Given the description of an element on the screen output the (x, y) to click on. 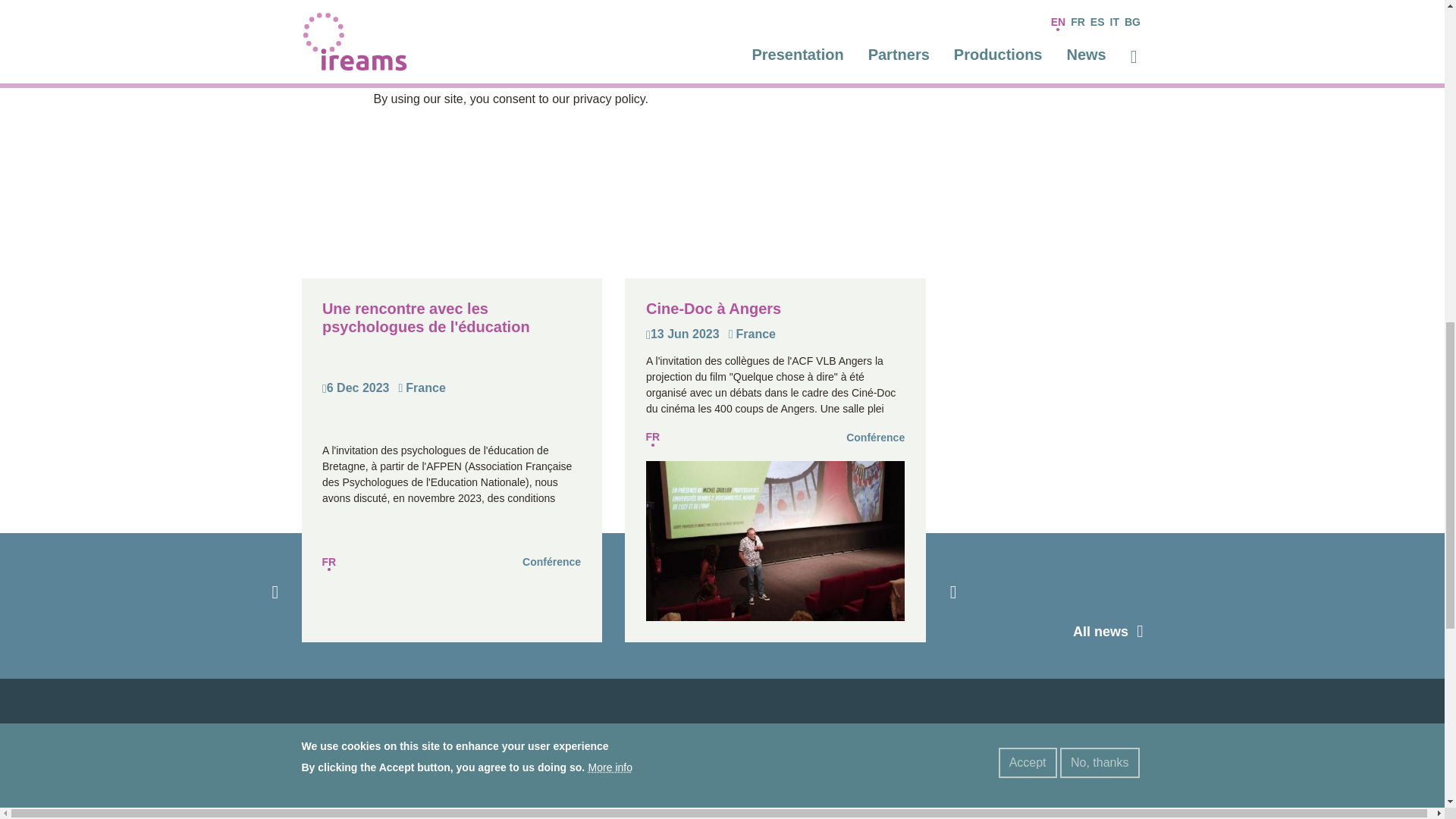
FR (652, 436)
FR (328, 561)
